Given the description of an element on the screen output the (x, y) to click on. 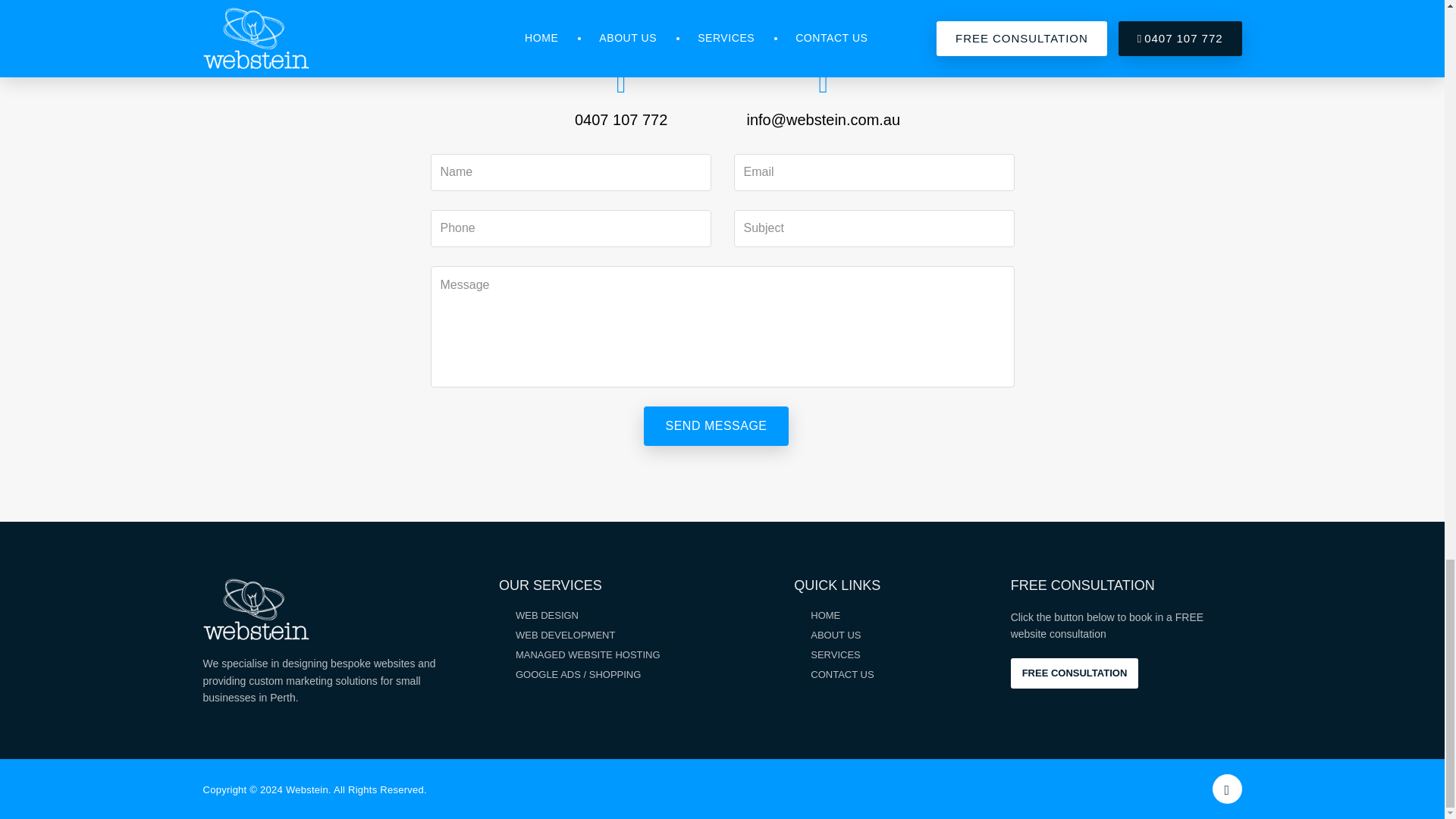
CONTACT US (841, 674)
FREE CONSULTATION (1074, 673)
ABOUT US (835, 634)
MANAGED WEBSITE HOSTING (588, 654)
Send Message (715, 425)
HOME (825, 614)
WEB DESIGN (546, 614)
0407 107 772 (620, 116)
SERVICES (835, 654)
Send Message (715, 425)
